Given the description of an element on the screen output the (x, y) to click on. 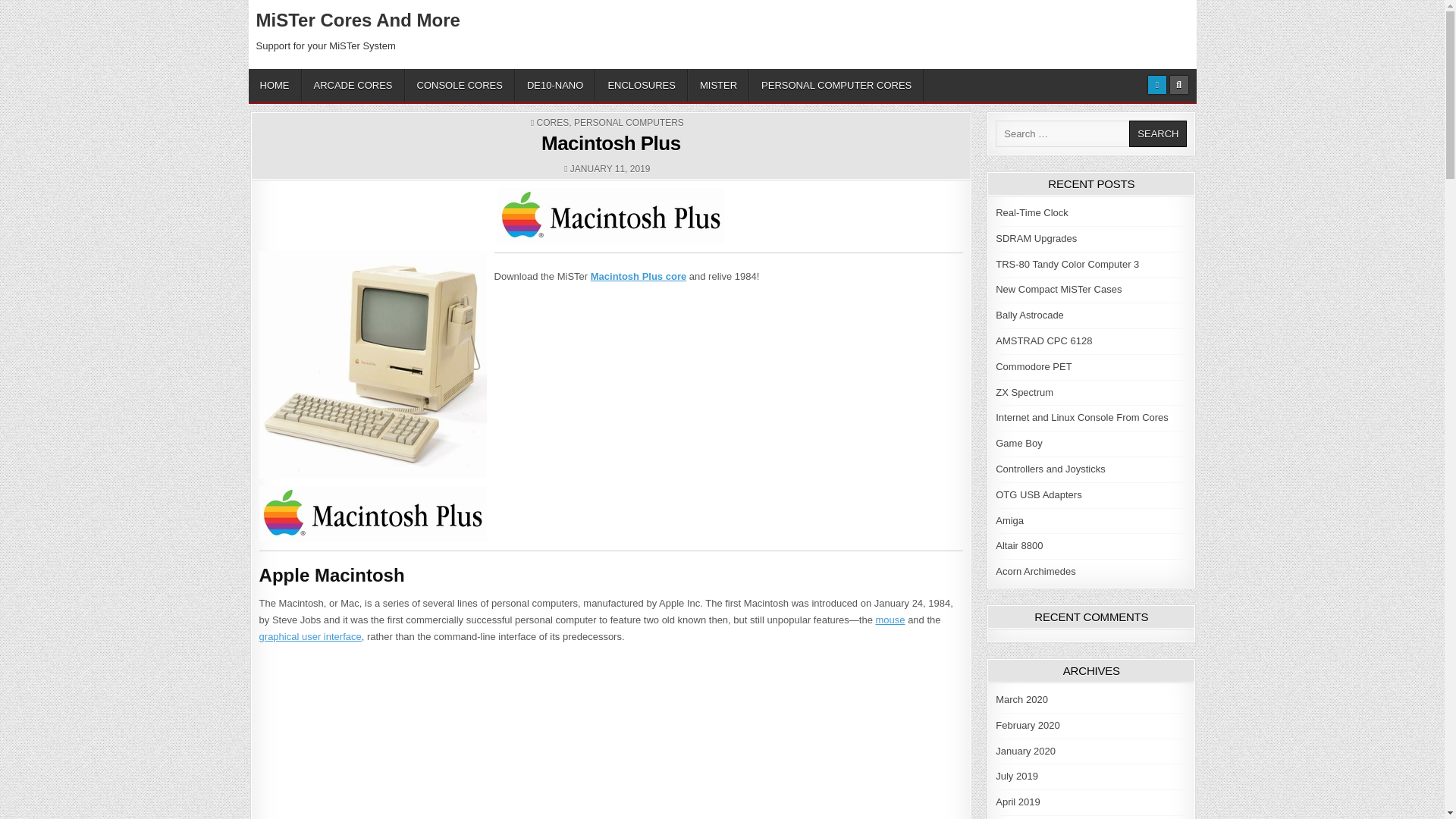
Internet and Linux Console From Cores (1082, 417)
TRS-80 Tandy Color Computer 3 (1066, 264)
graphical user interface (310, 636)
ARCADE CORES (352, 84)
Commodore PET (1033, 366)
Search (1157, 133)
SDRAM Upgrades (1036, 238)
CONSOLE CORES (459, 84)
Search (1157, 133)
ZX Spectrum (1023, 392)
DE10-NANO (555, 84)
ENCLOSURES (641, 84)
Search (1157, 133)
Macintosh Plus (611, 215)
MISTER (718, 84)
